Given the description of an element on the screen output the (x, y) to click on. 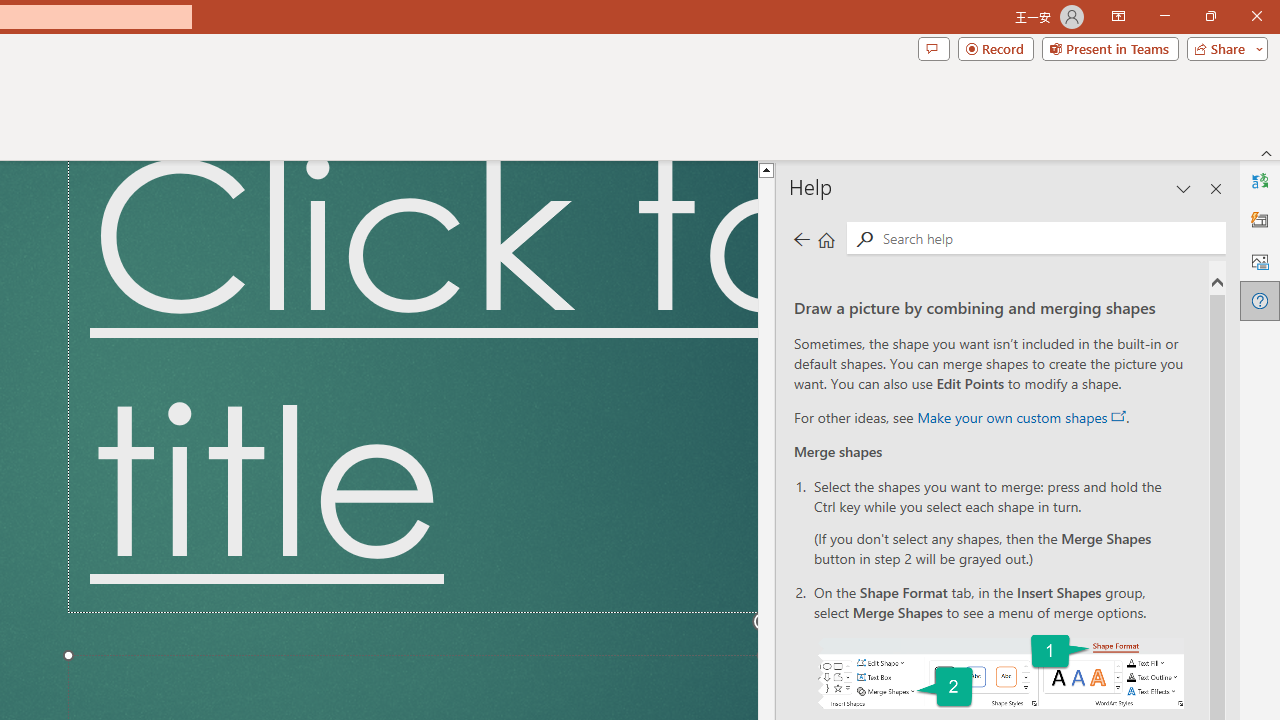
openinnewwindow (1118, 416)
